Given the description of an element on the screen output the (x, y) to click on. 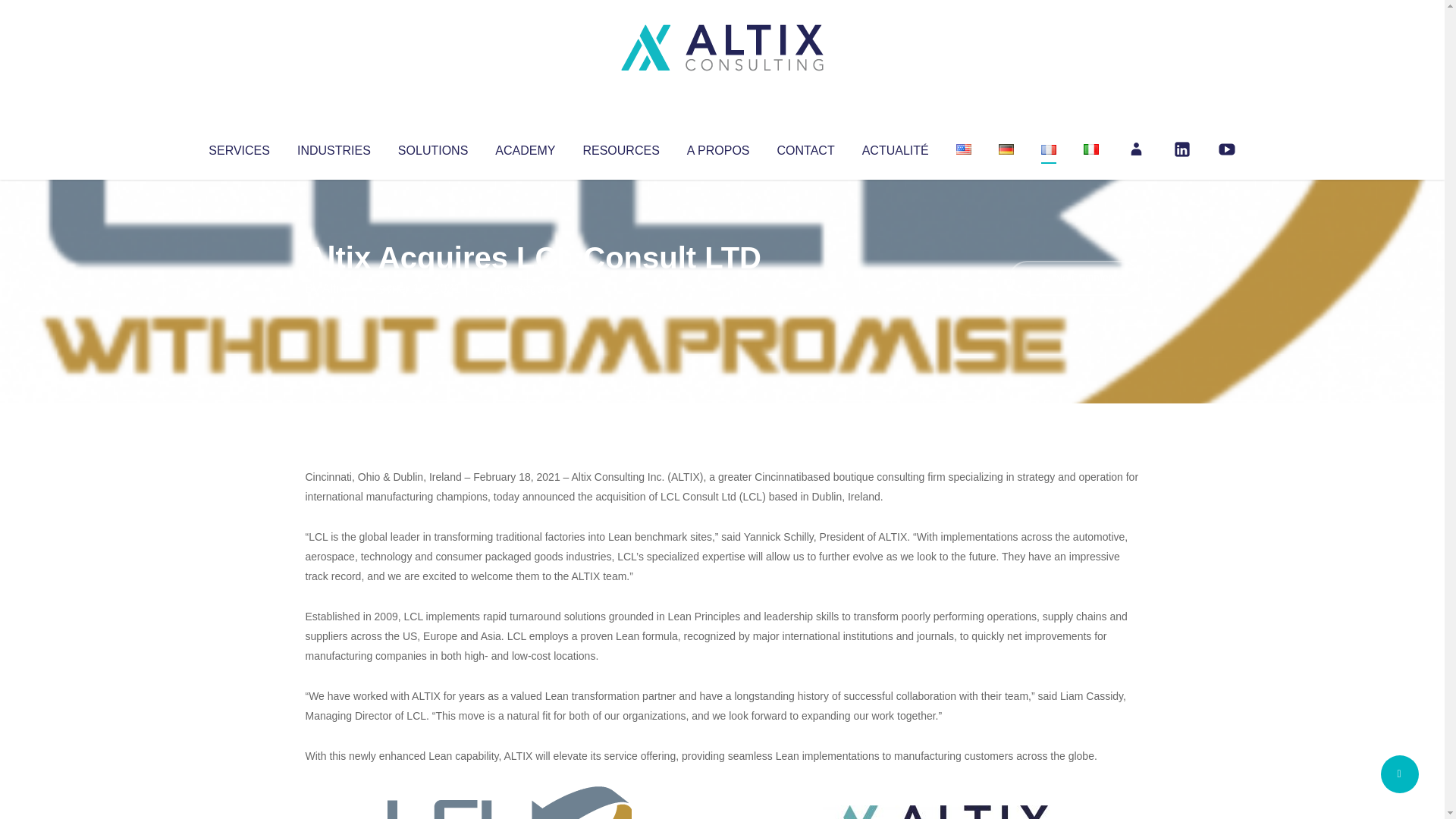
ACADEMY (524, 146)
RESOURCES (620, 146)
SERVICES (238, 146)
Articles par Altix (333, 287)
Uncategorized (530, 287)
INDUSTRIES (334, 146)
SOLUTIONS (432, 146)
Altix (333, 287)
A PROPOS (718, 146)
No Comments (1073, 278)
